Given the description of an element on the screen output the (x, y) to click on. 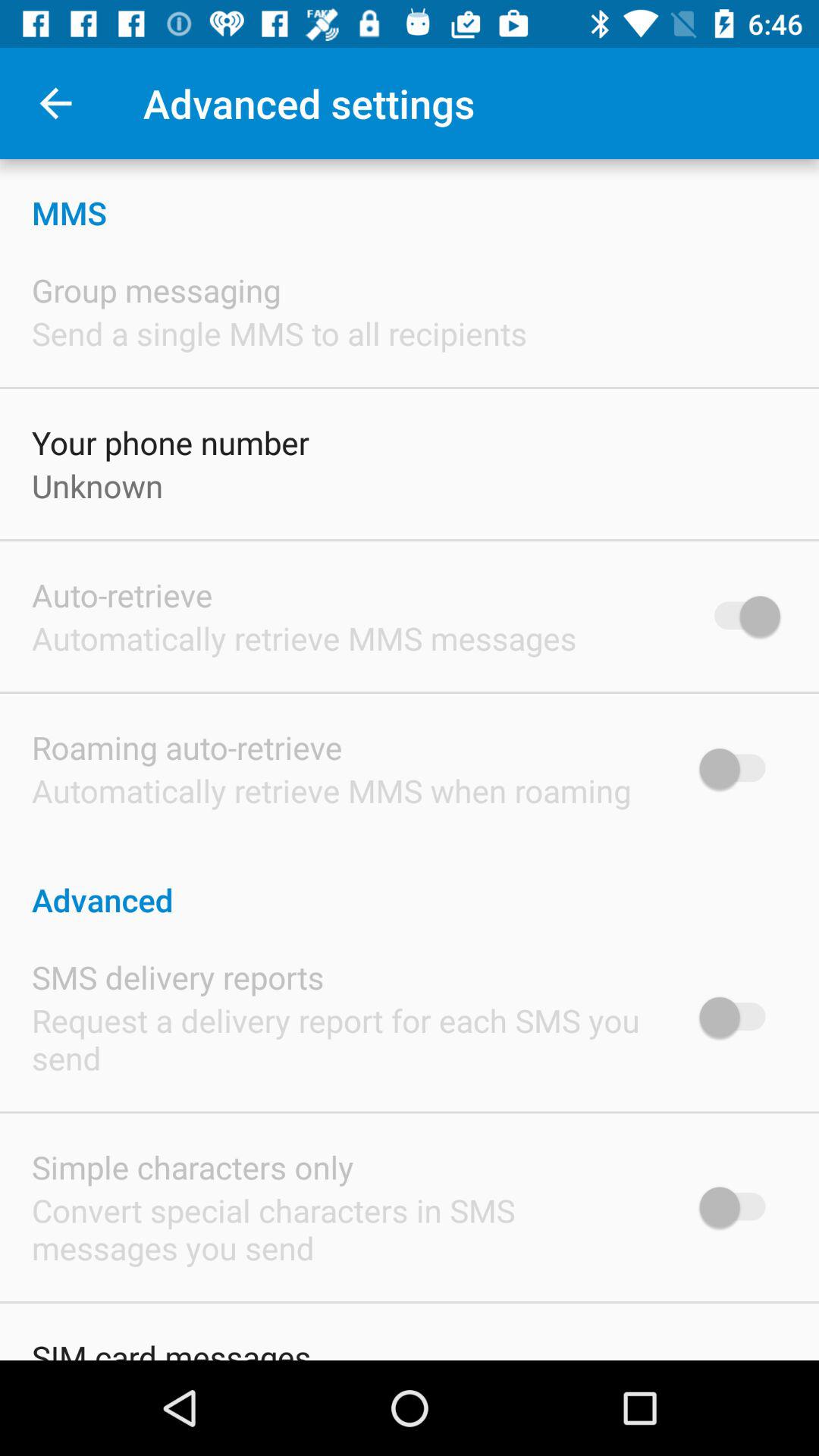
press item above send a single item (155, 289)
